Given the description of an element on the screen output the (x, y) to click on. 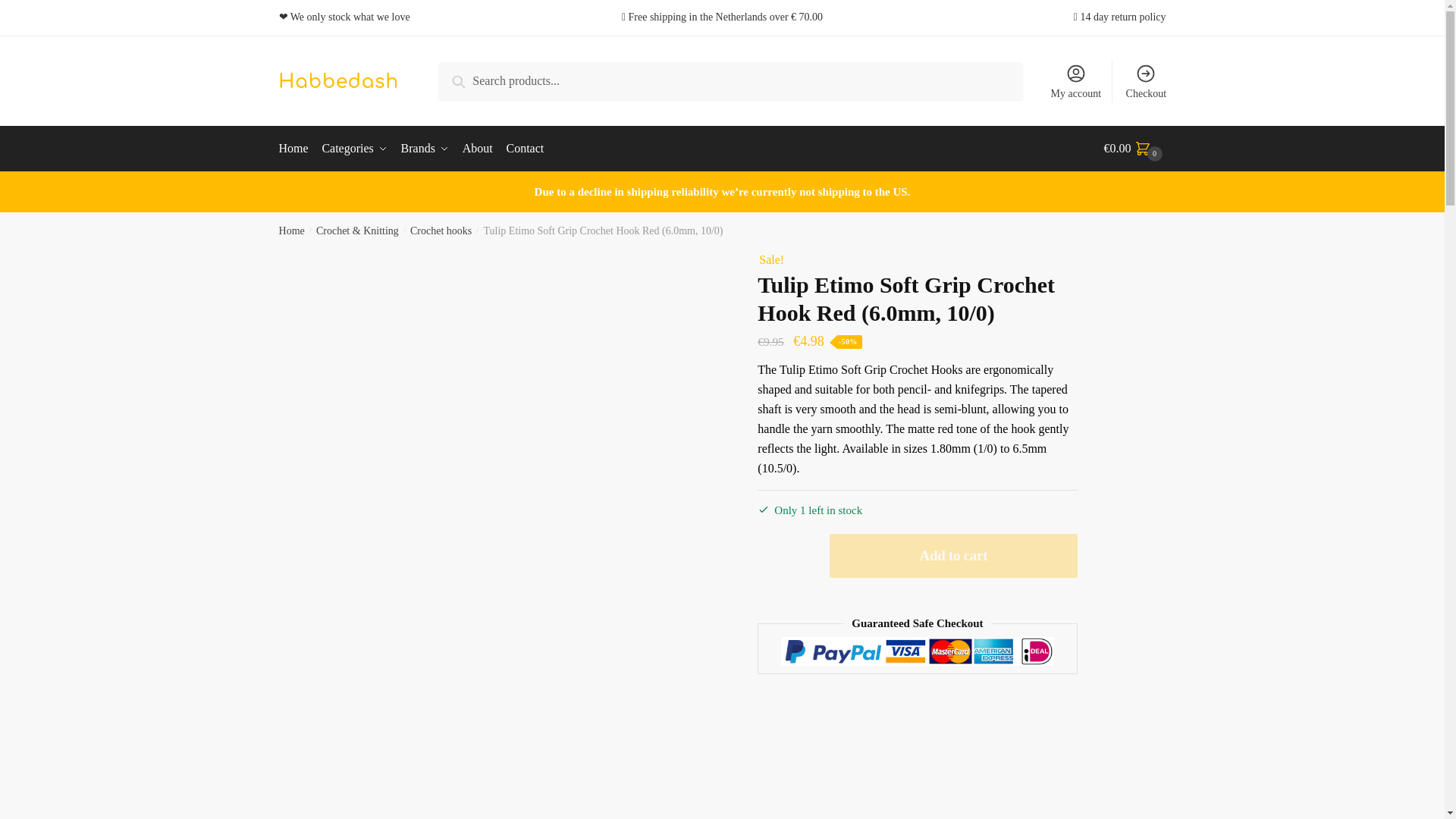
About (477, 148)
My account (1075, 80)
Checkout (1145, 80)
Brands (425, 148)
Search (471, 79)
Contact (524, 148)
Categories (354, 148)
View your shopping cart (1134, 148)
Home (298, 148)
